Given the description of an element on the screen output the (x, y) to click on. 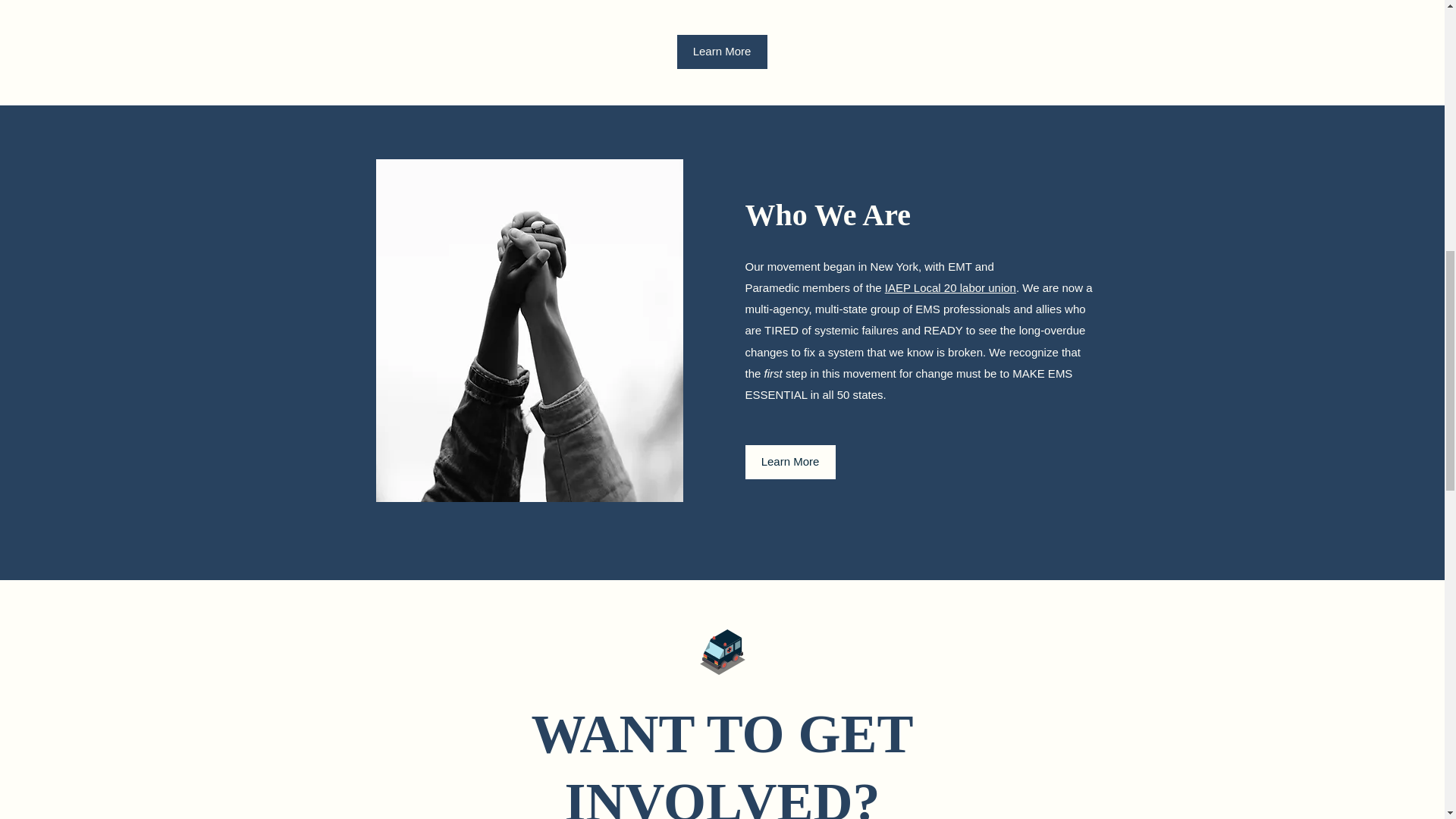
IAEP Local 20 labor union (950, 287)
Learn More (722, 51)
Learn More (789, 462)
